Given the description of an element on the screen output the (x, y) to click on. 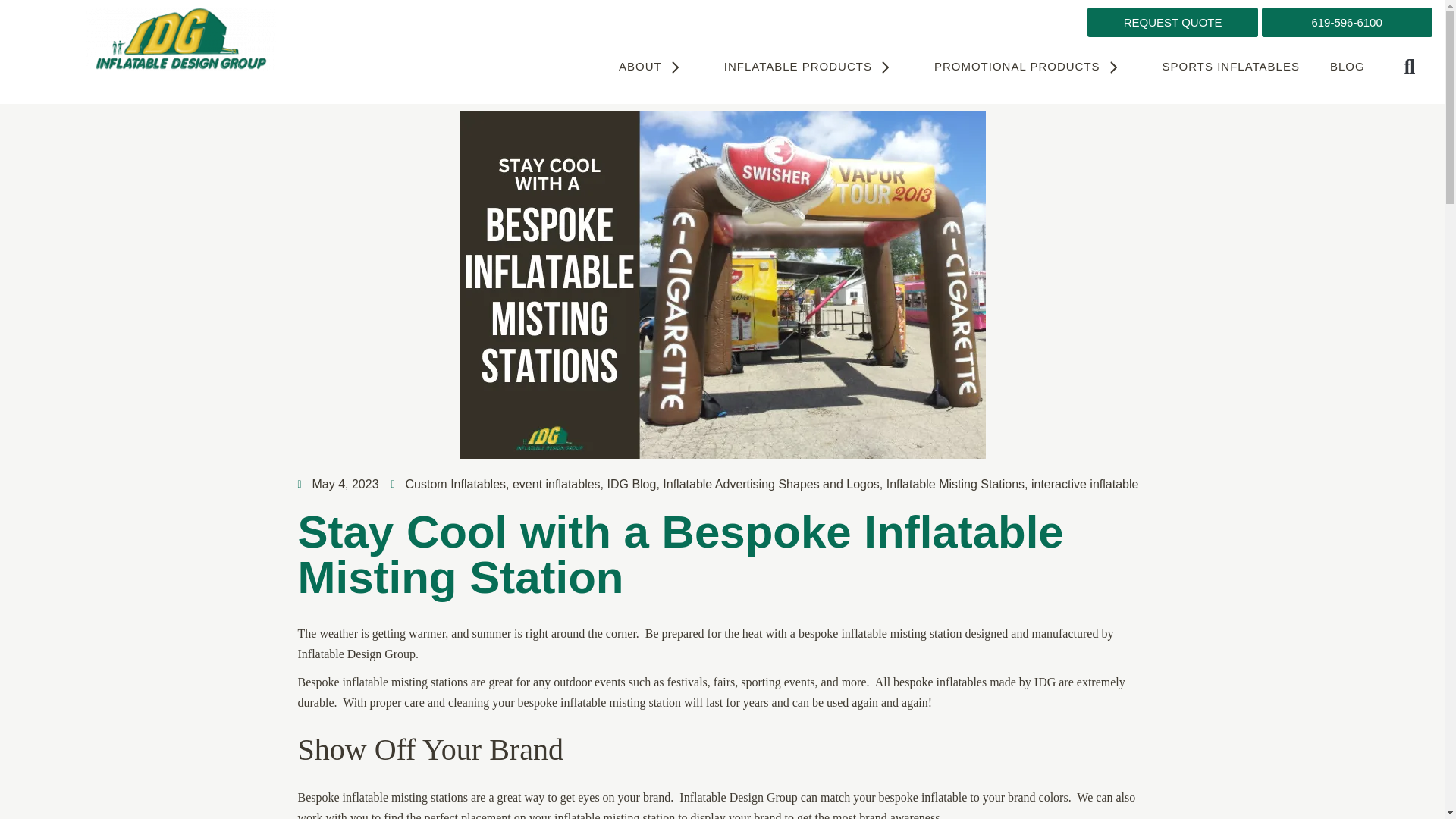
Inflatable Design Group (180, 38)
619-596-6100 (1347, 21)
INFLATABLE PRODUCTS (813, 66)
REQUEST QUOTE (1172, 21)
ABOUT (656, 66)
